Given the description of an element on the screen output the (x, y) to click on. 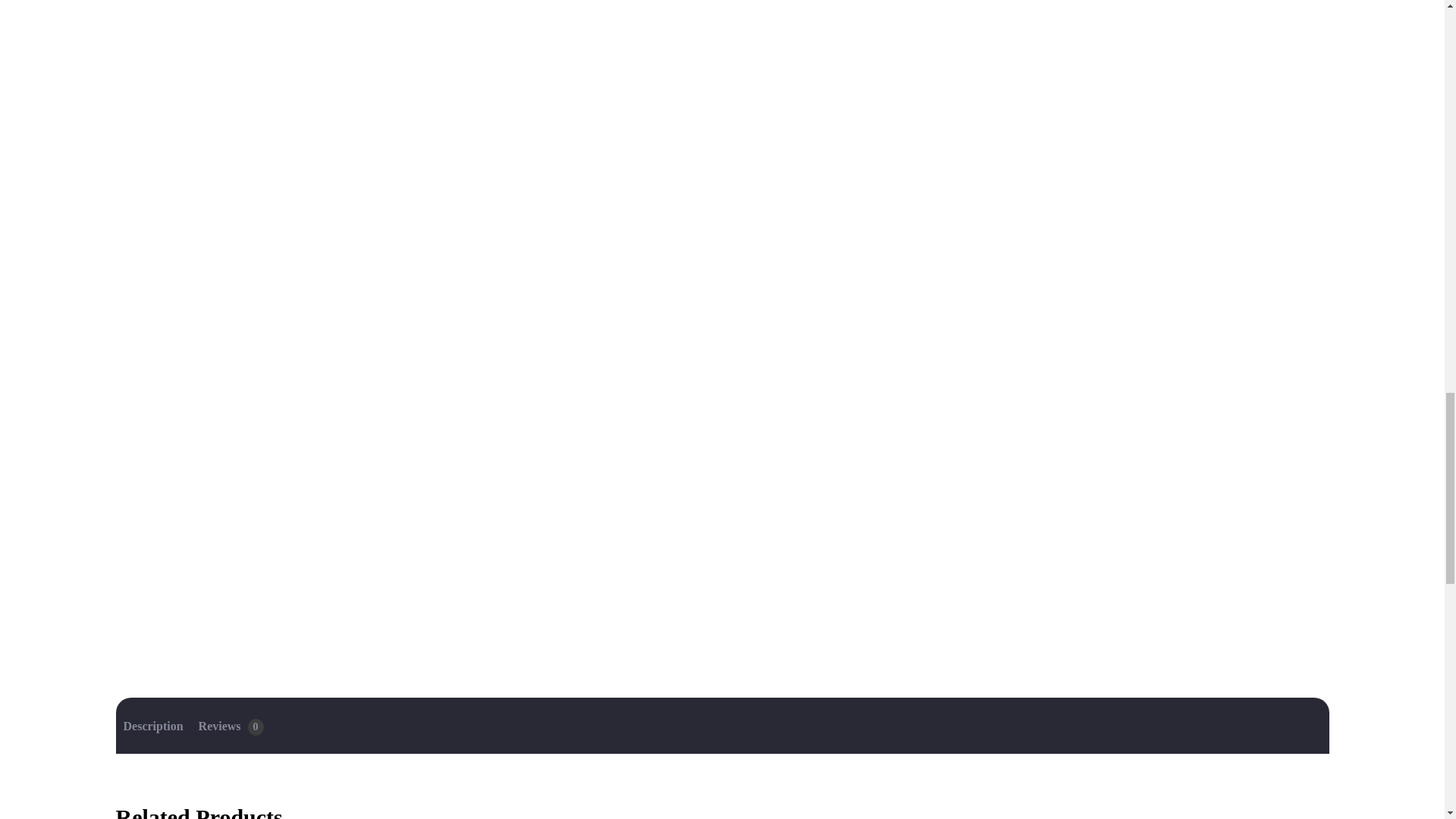
Description (152, 726)
Reviews 0 (230, 726)
